Given the description of an element on the screen output the (x, y) to click on. 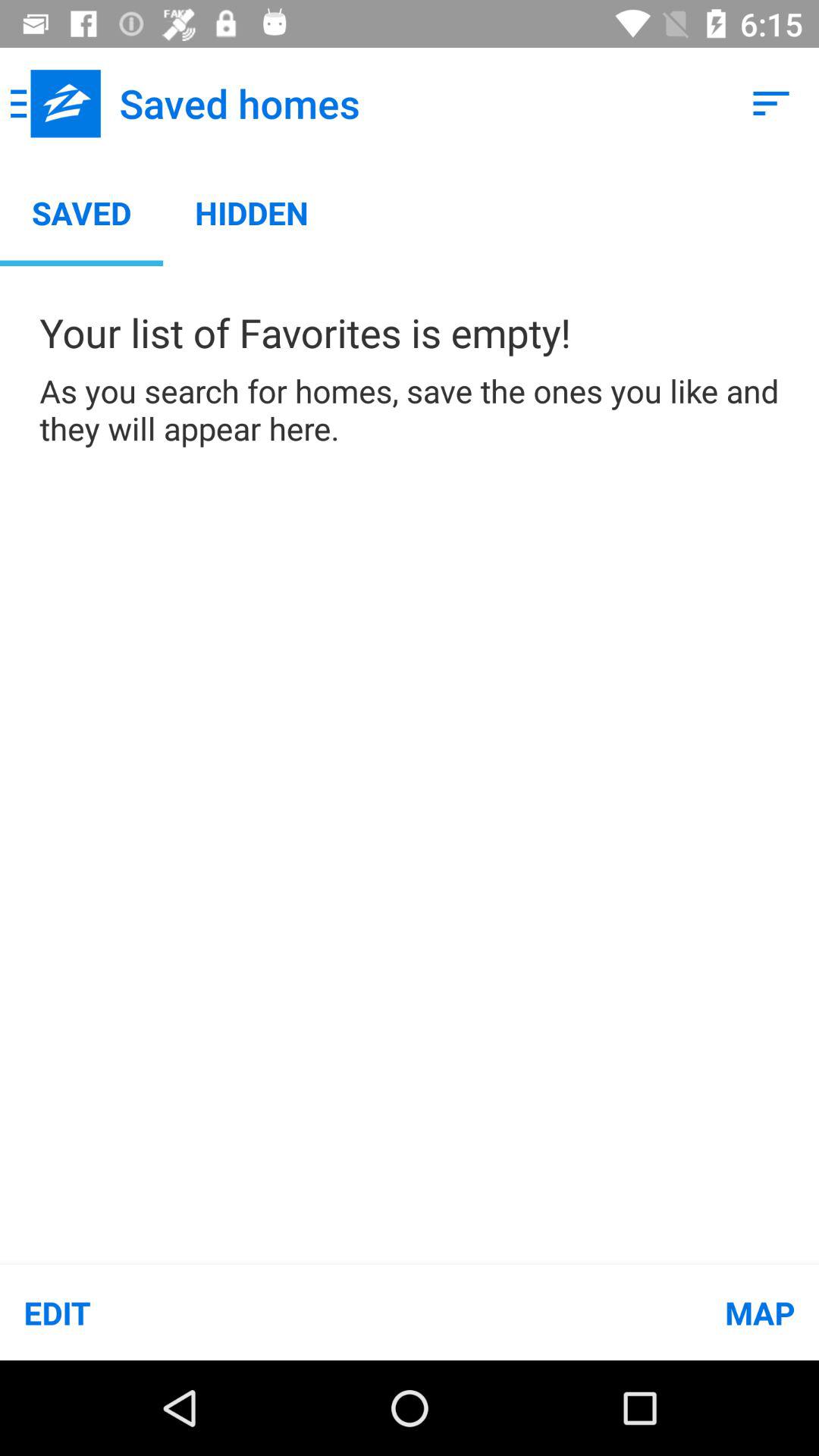
click the icon above the as you search item (771, 103)
